Given the description of an element on the screen output the (x, y) to click on. 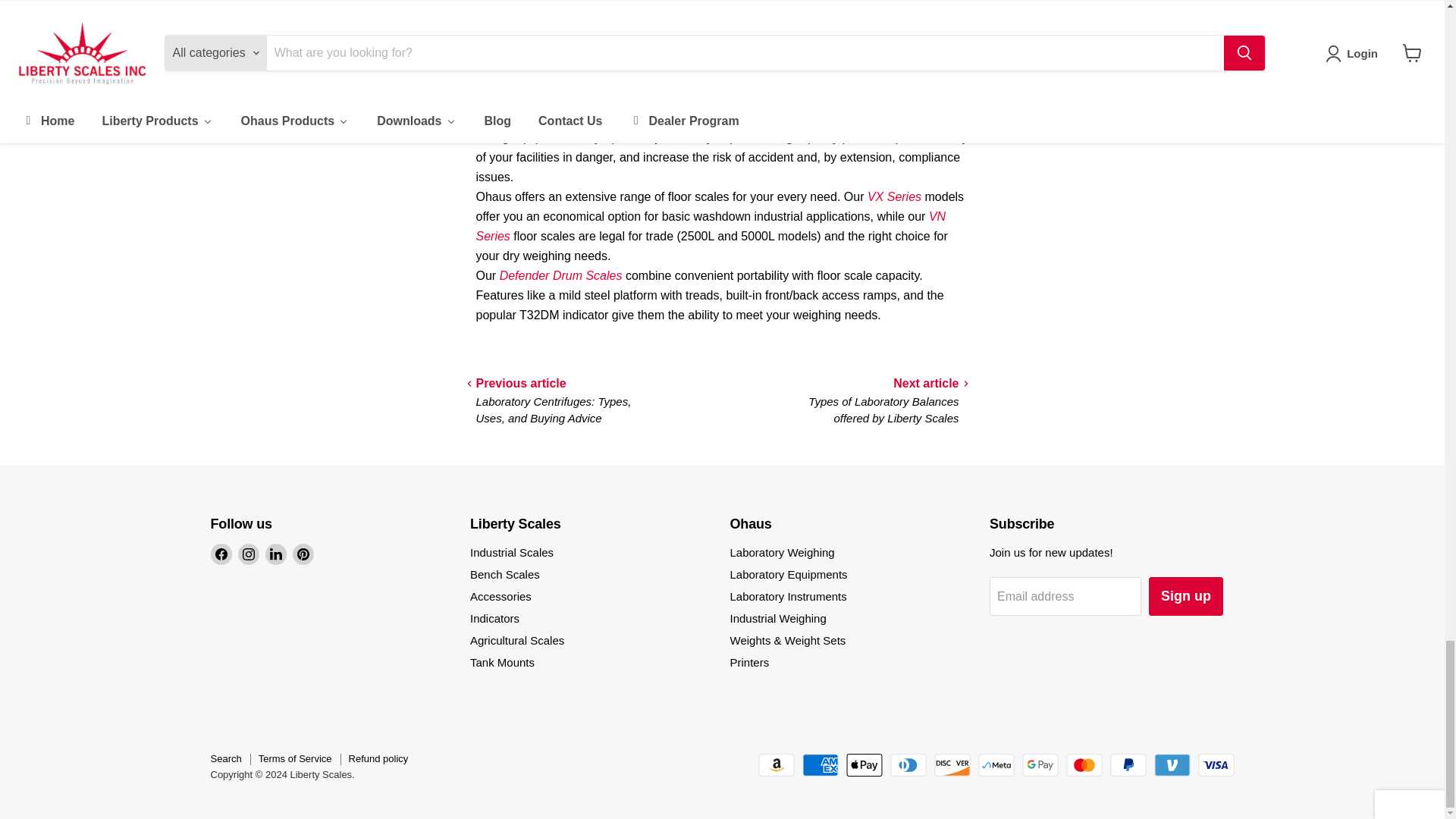
Amazon (776, 764)
Apple Pay (863, 764)
Diners Club (907, 764)
Discover (952, 764)
American Express (820, 764)
Meta Pay (996, 764)
